Given the description of an element on the screen output the (x, y) to click on. 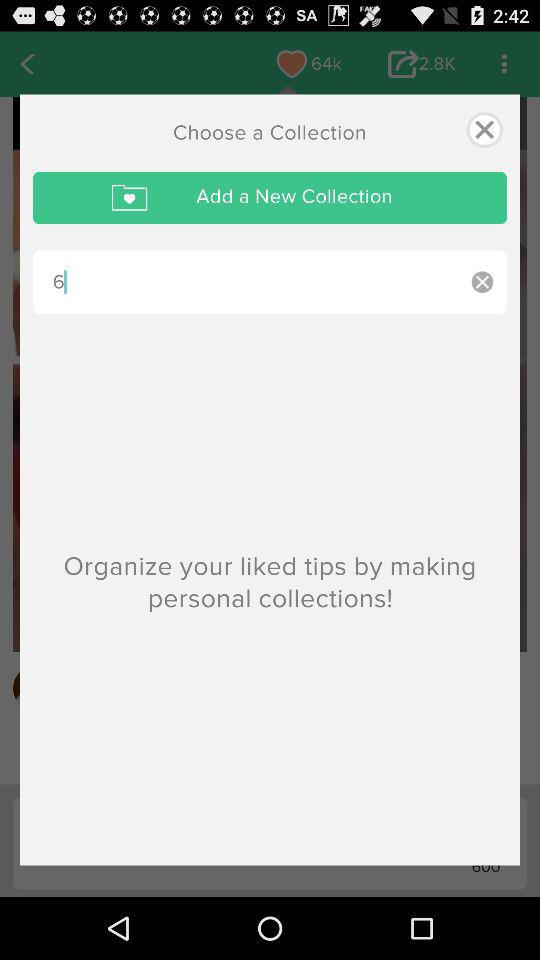
turn on the icon above the 6 (270, 197)
